Given the description of an element on the screen output the (x, y) to click on. 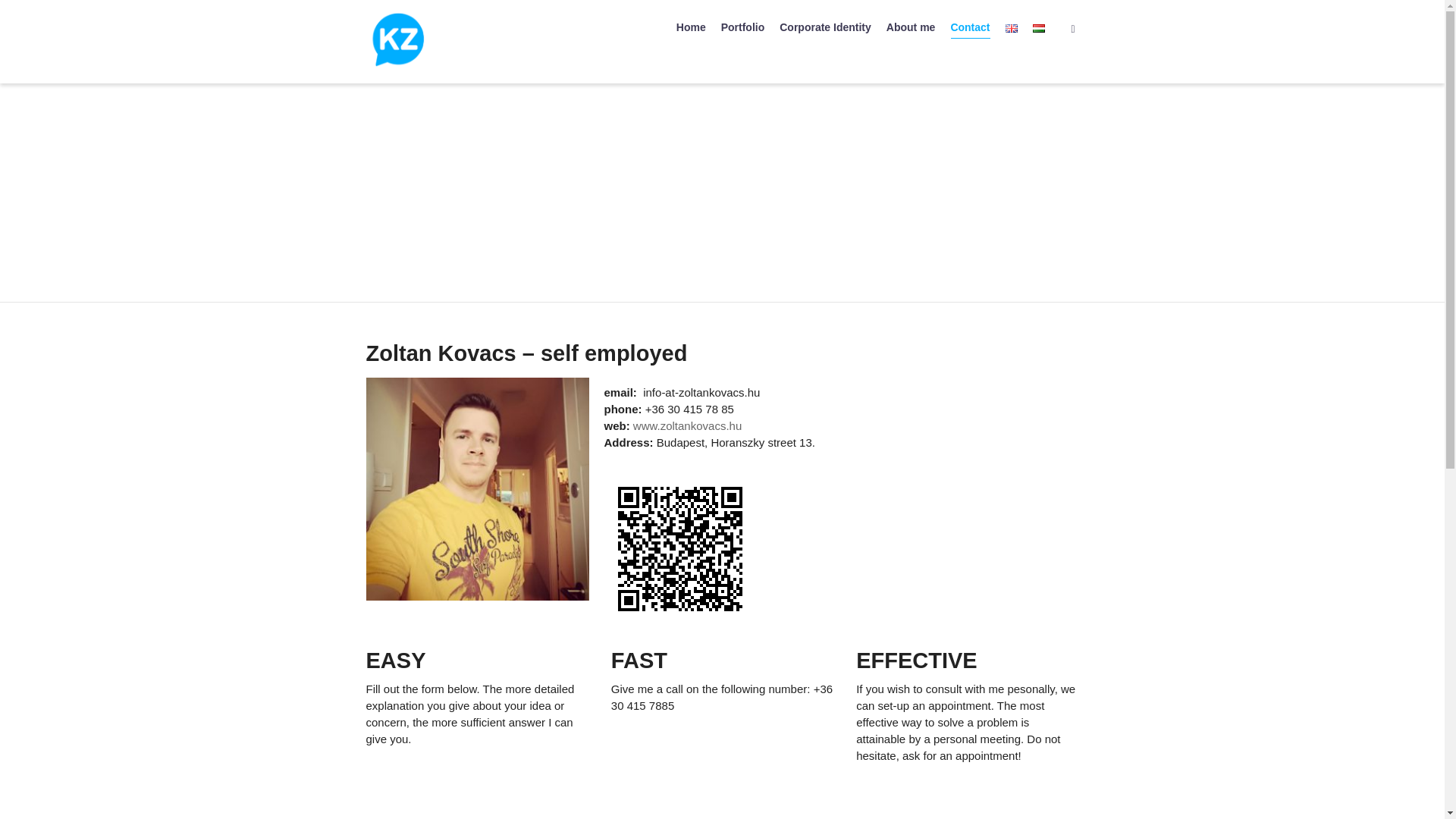
Portfolio (742, 28)
Corporate Identity (824, 28)
www.zoltankovacs.hu (687, 425)
About me (911, 28)
Contact (970, 28)
